Given the description of an element on the screen output the (x, y) to click on. 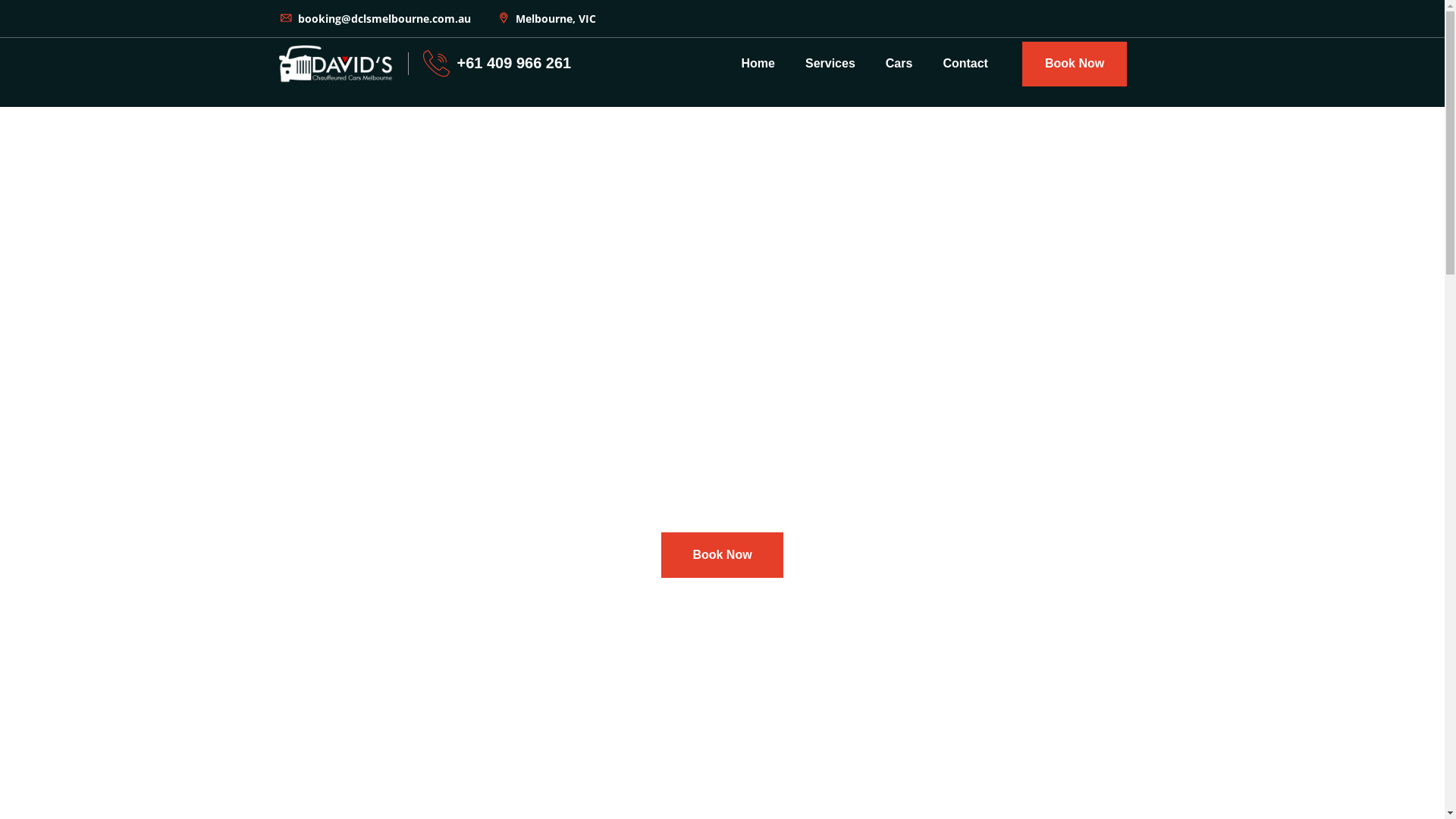
Book Now Element type: text (1074, 63)
Cars Element type: text (899, 63)
Melbourne, VIC Element type: text (545, 18)
Home Element type: text (758, 63)
booking@dclsmelbourne.com.au Element type: text (374, 18)
Services Element type: text (829, 63)
Contact Element type: text (965, 63)
+61 409 966 261 Element type: text (513, 62)
Book Now Element type: text (721, 554)
